Given the description of an element on the screen output the (x, y) to click on. 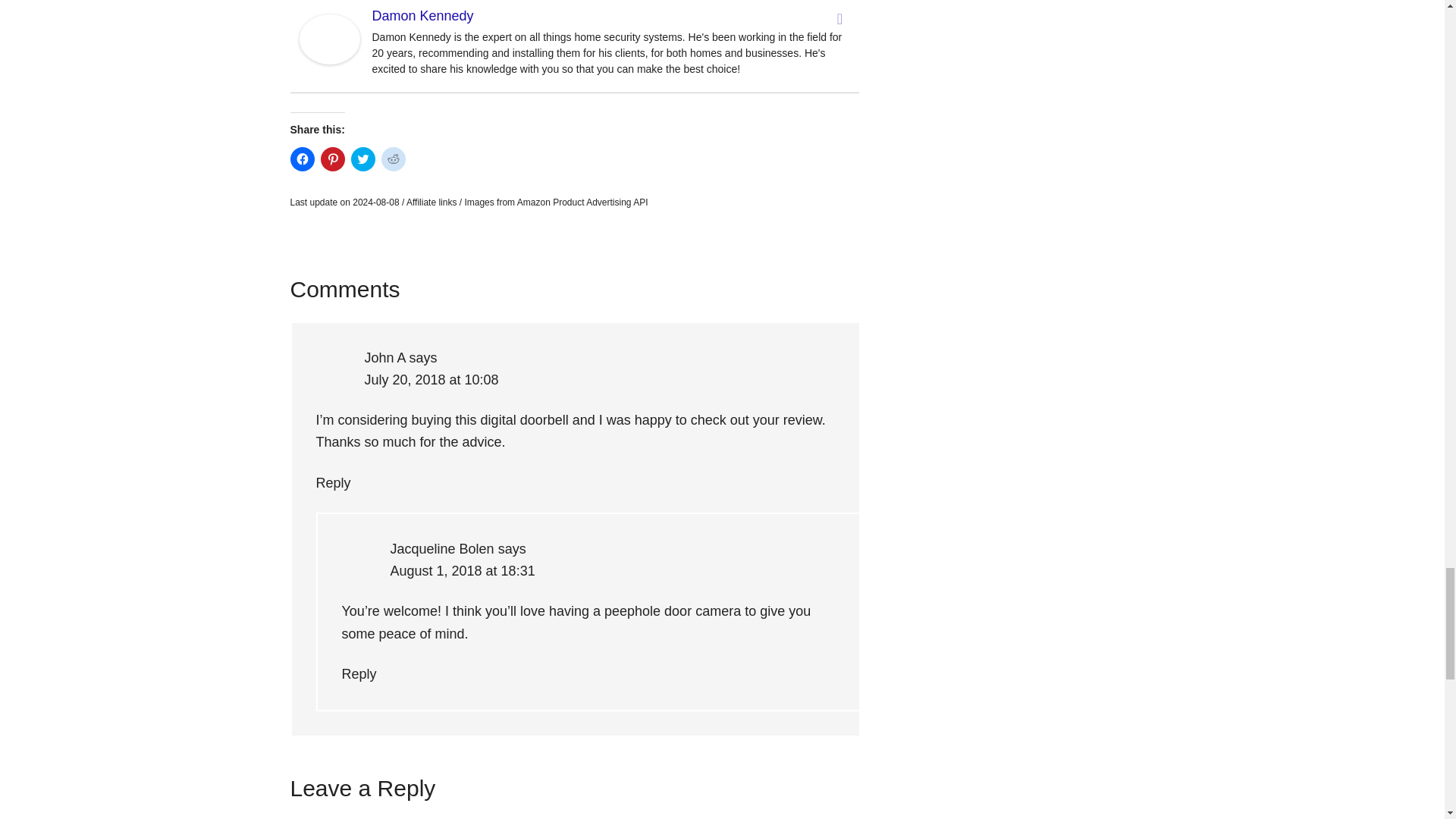
Damon Kennedy (328, 59)
Click to share on Twitter (362, 159)
Facebook (839, 18)
July 20, 2018 at 10:08 (430, 379)
Click to share on Reddit (392, 159)
Damon Kennedy (422, 15)
Click to share on Facebook (301, 159)
Click to share on Pinterest (331, 159)
